Given the description of an element on the screen output the (x, y) to click on. 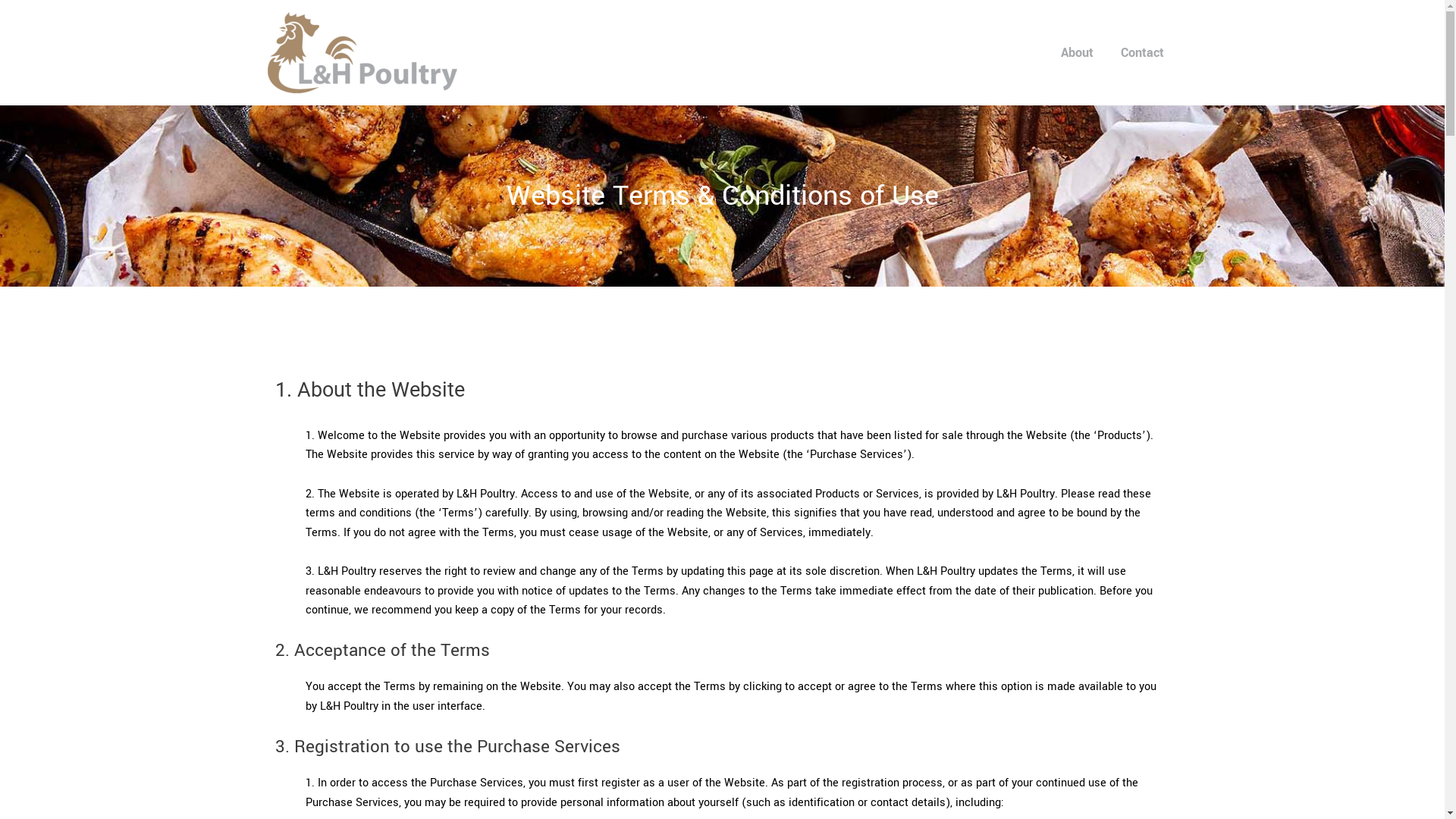
About Element type: text (1076, 52)
Contact Element type: text (1142, 52)
